Given the description of an element on the screen output the (x, y) to click on. 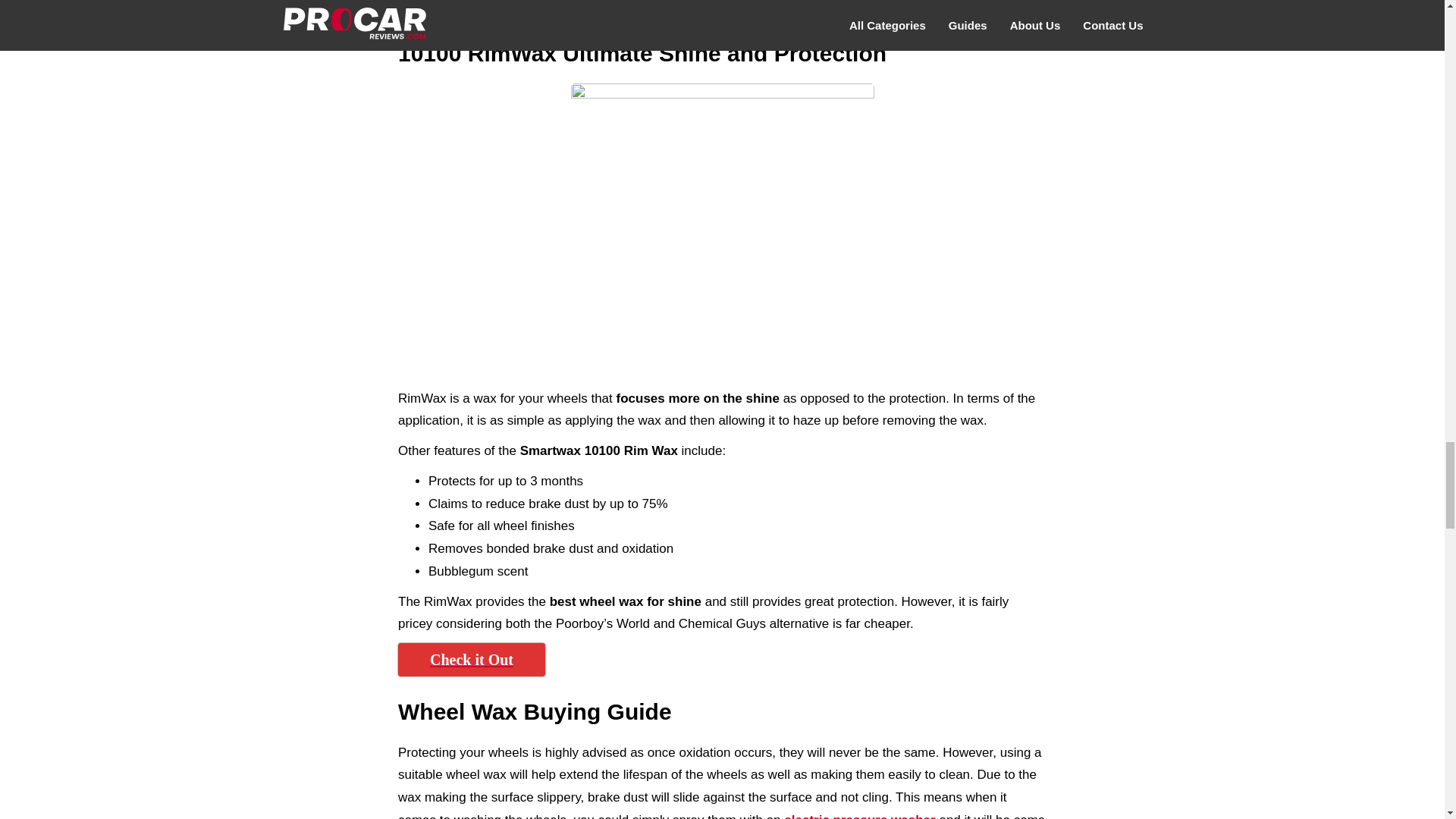
electric pressure washer (859, 816)
Check it Out (470, 9)
Check it Out (470, 659)
